Given the description of an element on the screen output the (x, y) to click on. 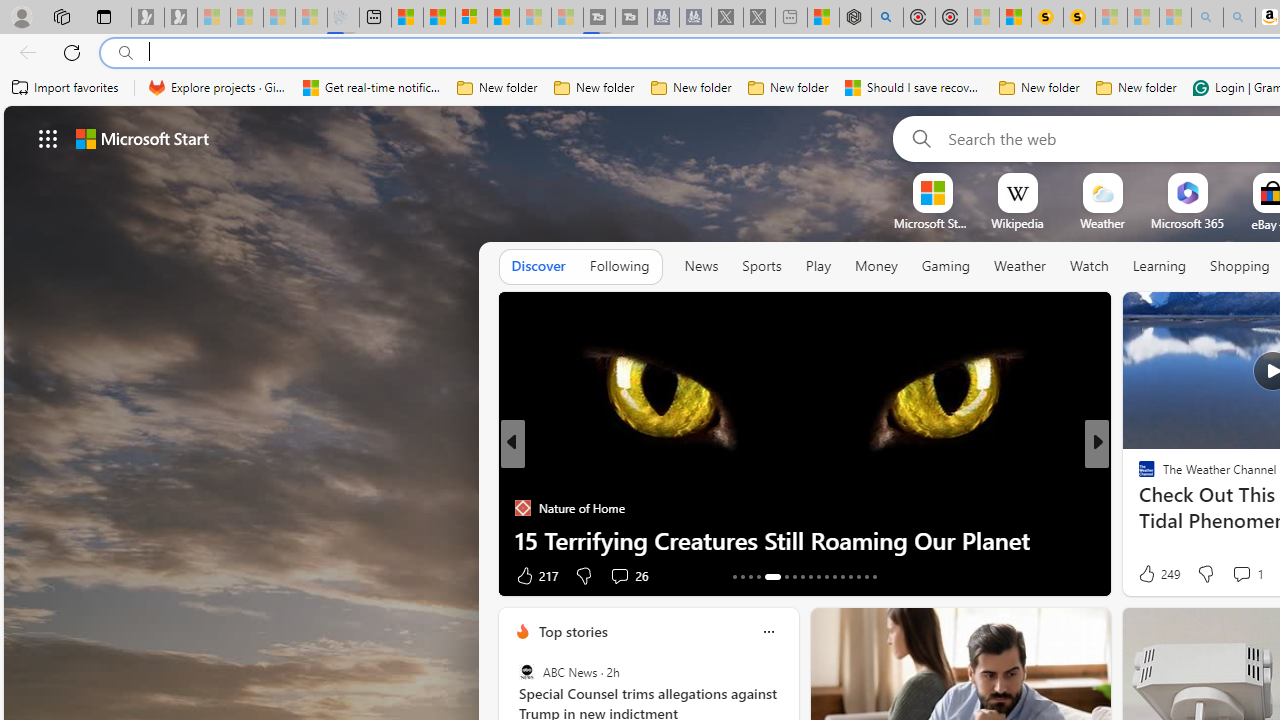
AutomationID: tab-16 (757, 576)
